Given the description of an element on the screen output the (x, y) to click on. 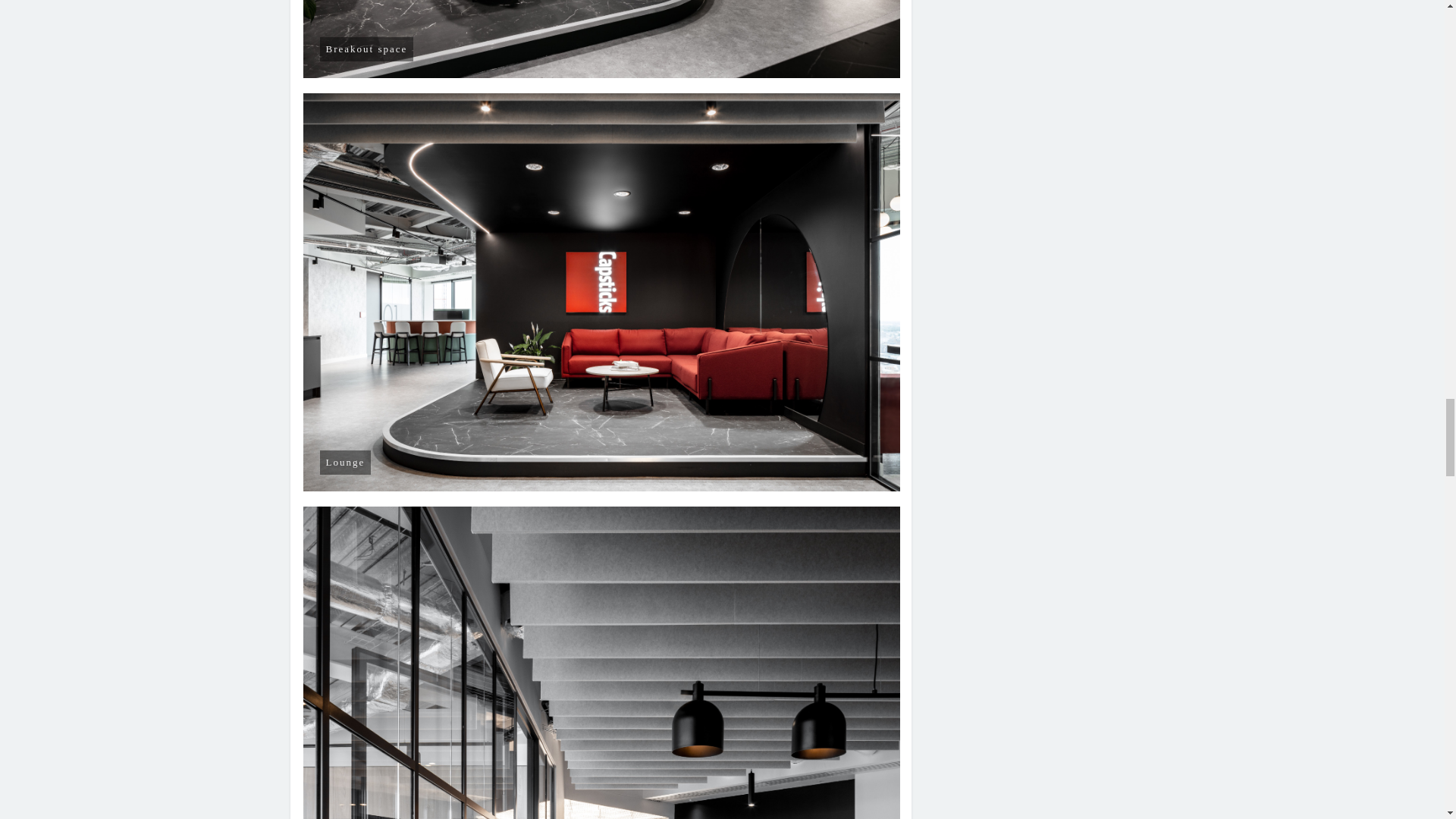
Breakout space (601, 38)
